Given the description of an element on the screen output the (x, y) to click on. 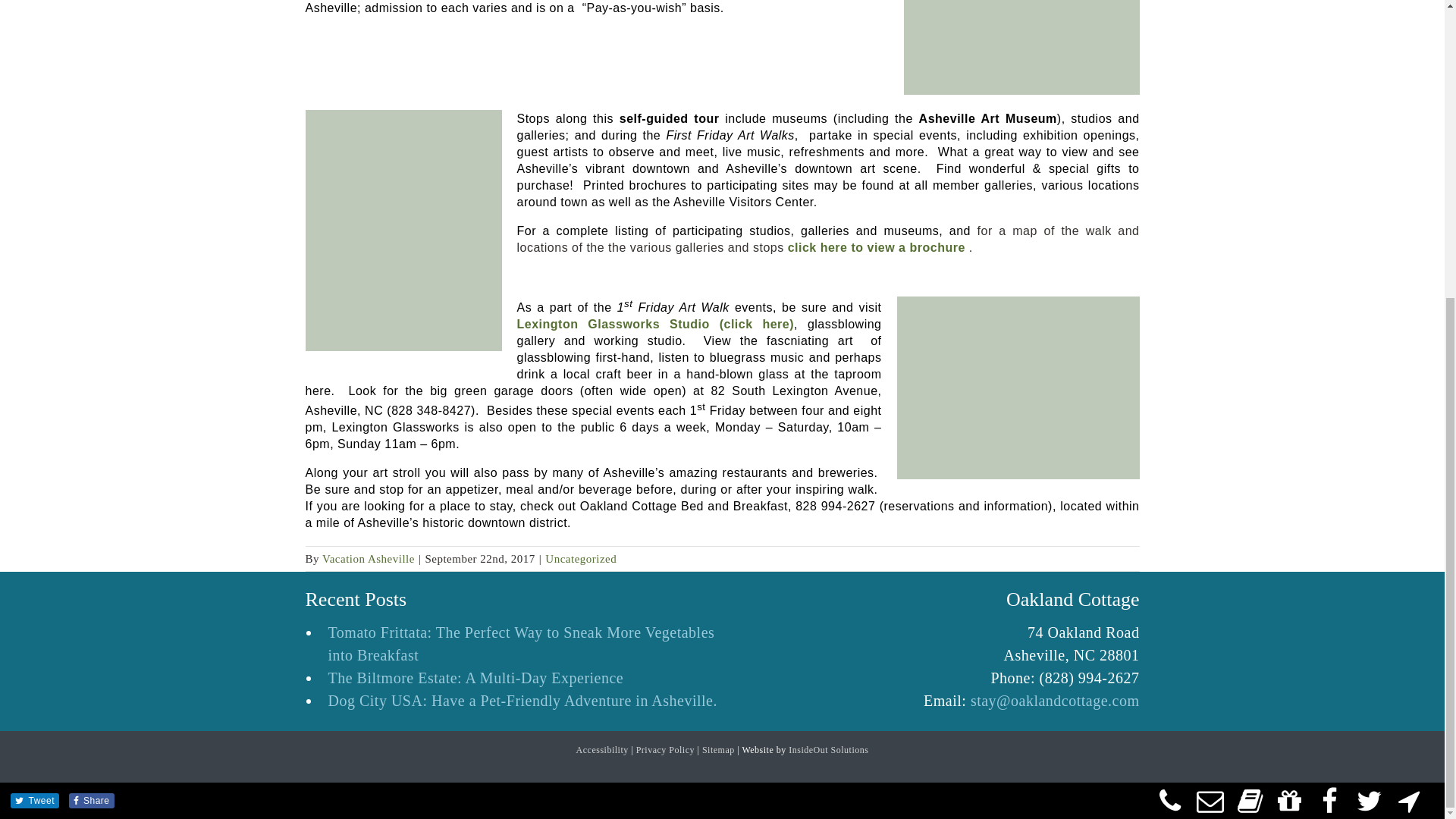
Vacation Asheville (367, 558)
Uncategorized (579, 558)
InsideOut Solutions (828, 749)
Tweet (42, 339)
Posts by Vacation Asheville (367, 558)
Share (96, 339)
Sitemap (718, 749)
Dog City USA: Have a Pet-Friendly Adventure in Asheville. (524, 700)
Accessibility (602, 749)
The Biltmore Estate: A Multi-Day Experience (524, 677)
click here to view a brochure (876, 246)
Privacy Policy (665, 749)
